Given the description of an element on the screen output the (x, y) to click on. 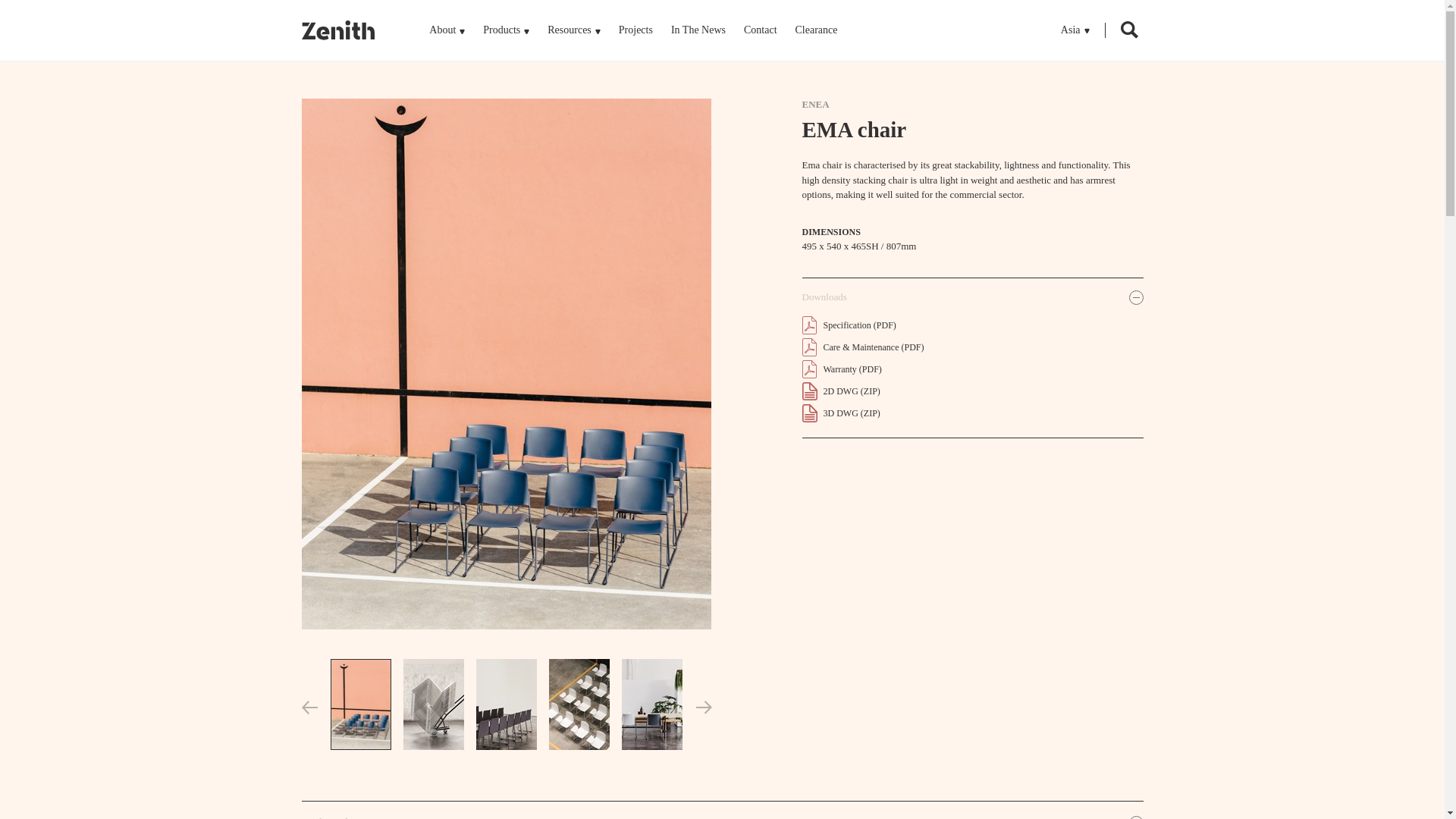
Zenith (338, 30)
Search (1129, 32)
